Given the description of an element on the screen output the (x, y) to click on. 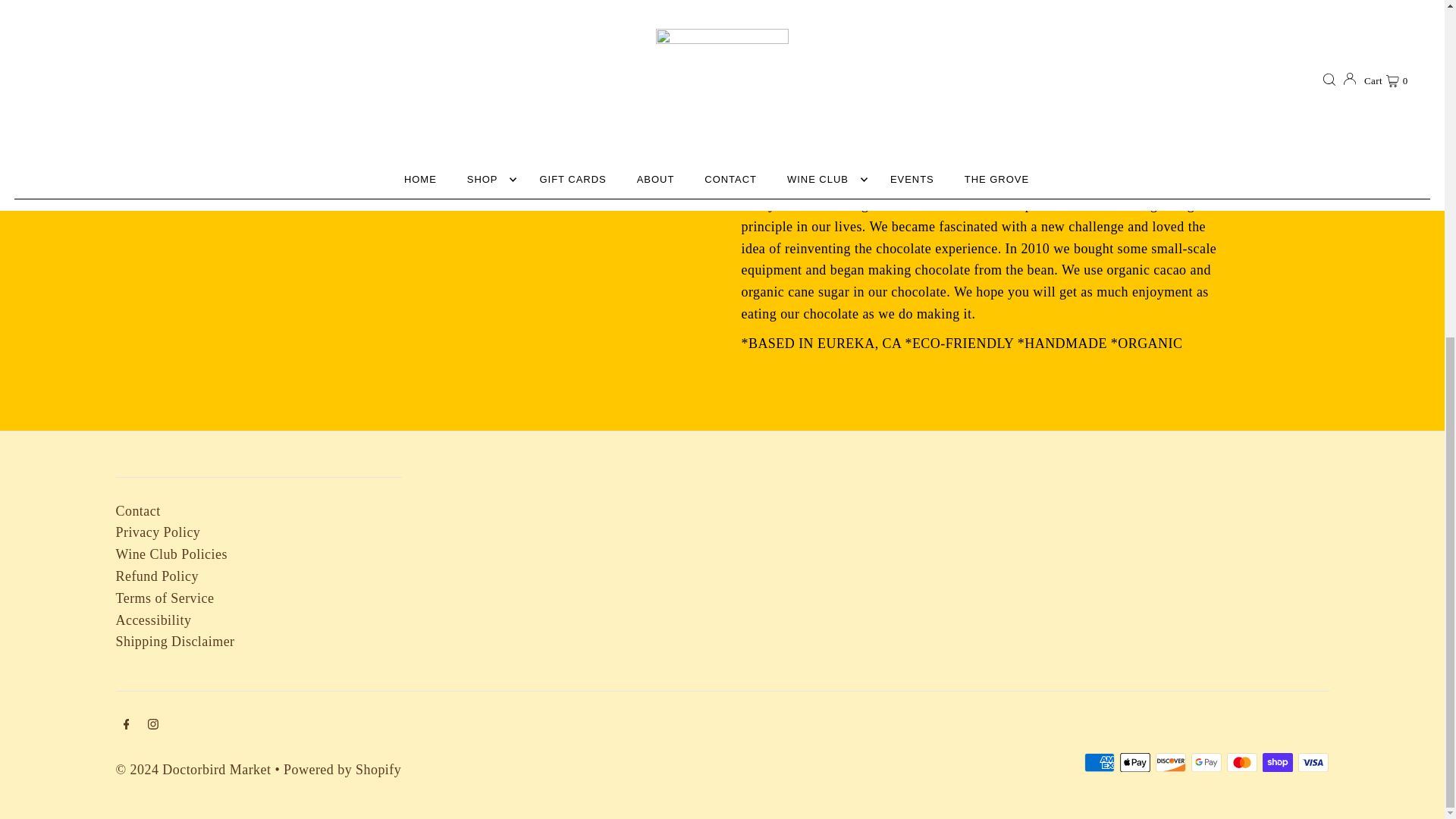
American Express (1099, 762)
Discover (1171, 762)
Shop Pay (1277, 762)
Google Pay (1206, 762)
Apple Pay (1134, 762)
Mastercard (1242, 762)
Visa (1312, 762)
